Given the description of an element on the screen output the (x, y) to click on. 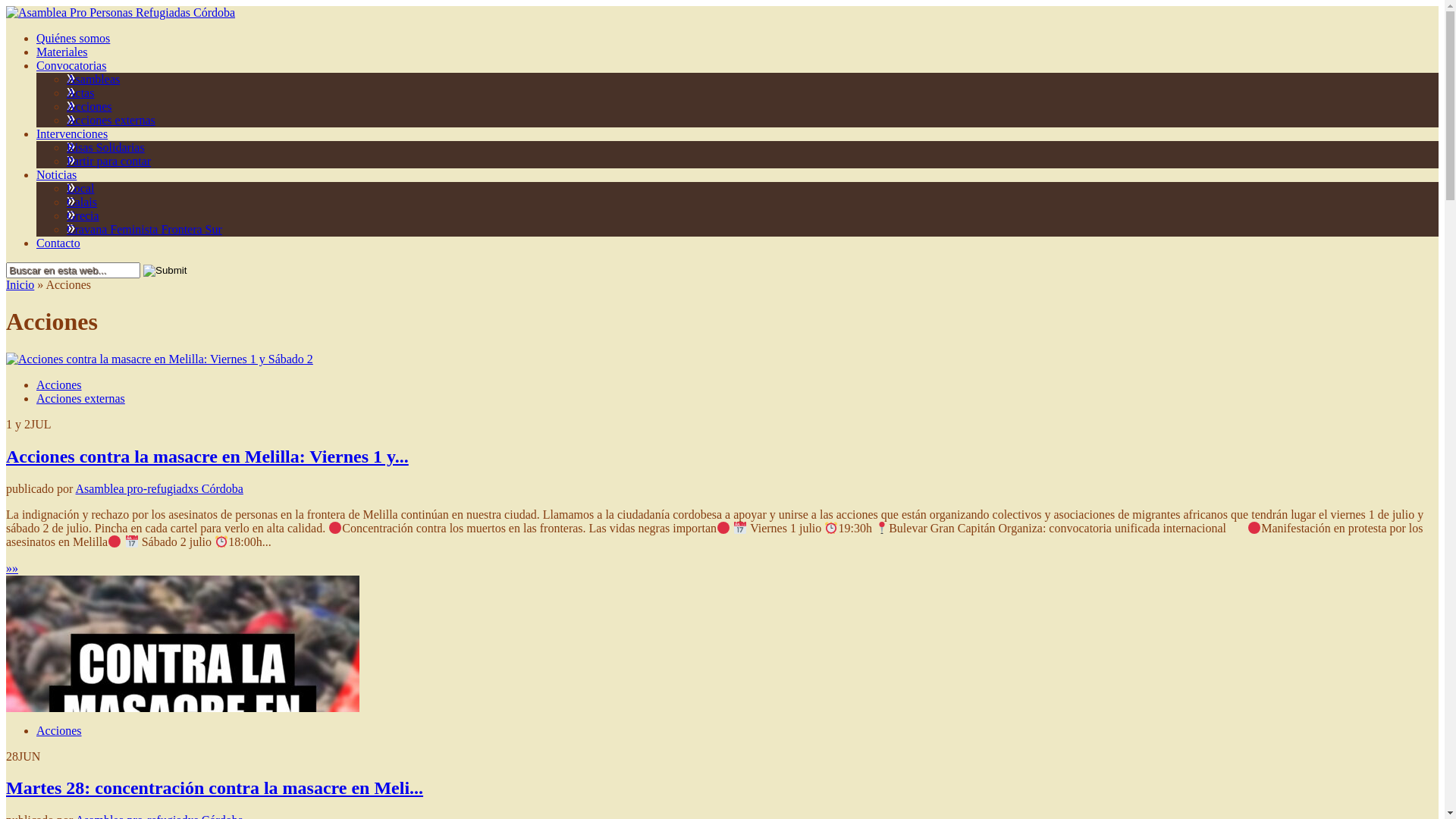
Convocatorias Element type: text (71, 65)
Actas Element type: text (80, 92)
Cravana Feminista Frontera Sur Element type: text (144, 228)
Grecia Element type: text (82, 215)
Acciones externas Element type: text (80, 398)
Acciones Element type: text (89, 106)
Acciones Element type: text (58, 384)
Asambleas Element type: text (92, 78)
Calais Element type: text (81, 201)
Noticias Element type: text (56, 174)
Acciones externas Element type: text (110, 119)
Local Element type: text (80, 188)
Contacto Element type: text (58, 242)
Risas Solidarias Element type: text (105, 147)
Inicio Element type: text (20, 284)
Acciones contra la masacre en Melilla: Viernes 1 y... Element type: text (207, 456)
Intervenciones Element type: text (71, 133)
Materiales Element type: text (61, 51)
Acciones Element type: text (58, 729)
Partir para contar Element type: text (108, 160)
